Given the description of an element on the screen output the (x, y) to click on. 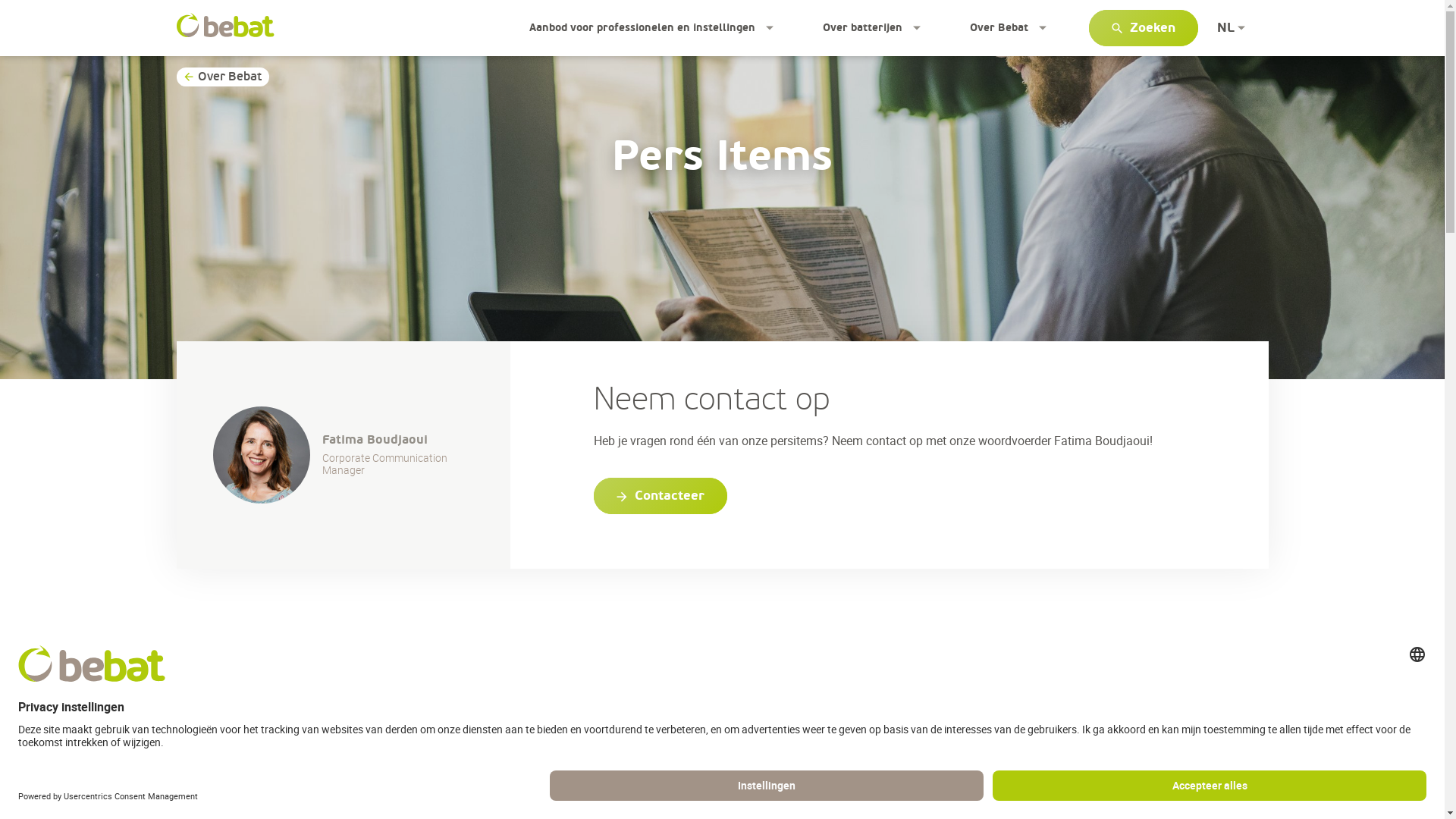
Over Bebat Element type: text (1007, 27)
Contacteer Element type: text (659, 495)
Bebat Element type: hover (224, 25)
Help Element type: hover (1398, 780)
Over Bebat Element type: text (221, 76)
Aanbod voor professionelen en instellingen Element type: text (651, 27)
Zoeken Element type: text (1143, 27)
Over batterijen Element type: text (871, 27)
Fatima Boudjaoui Element type: hover (260, 454)
